Given the description of an element on the screen output the (x, y) to click on. 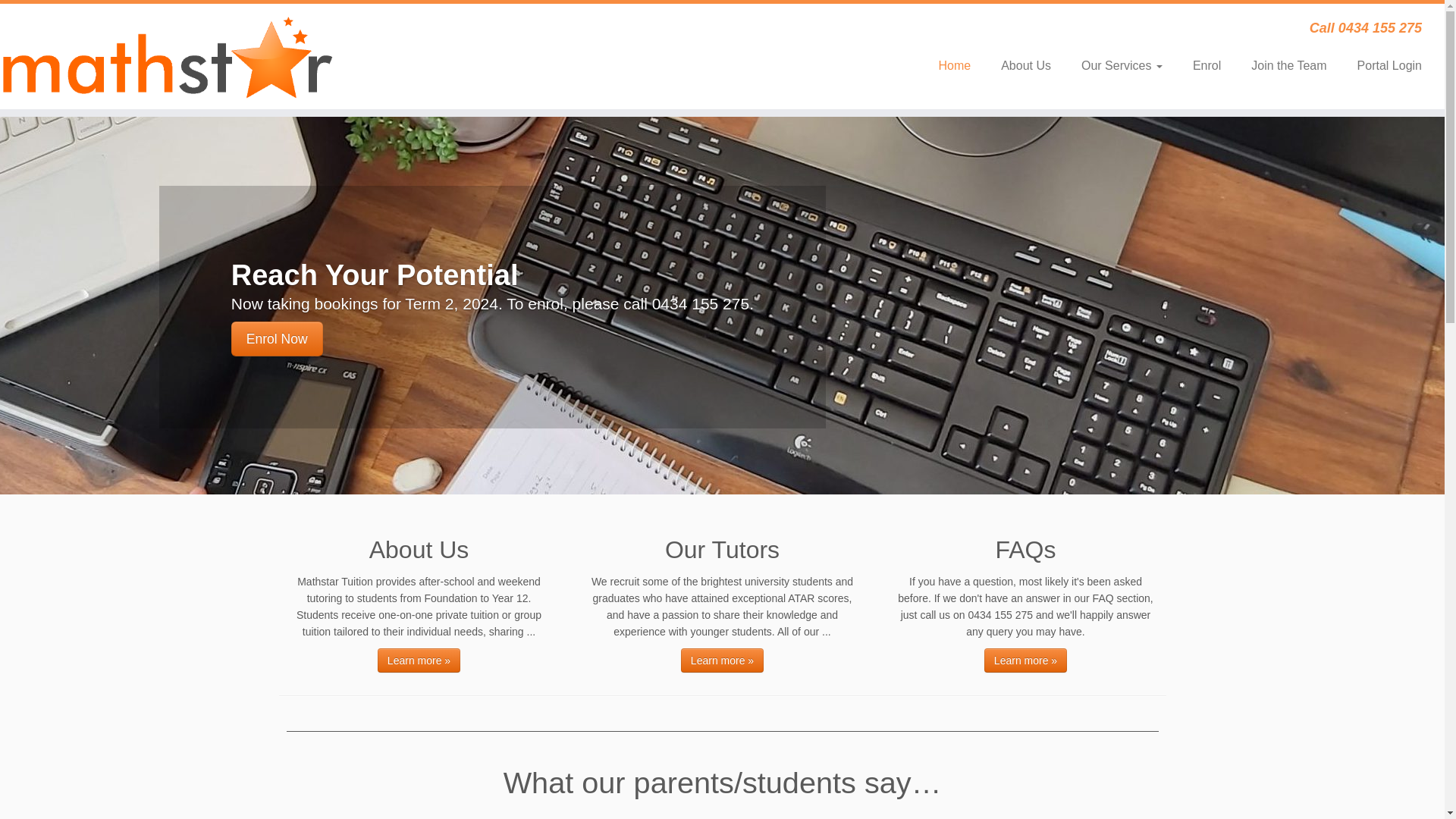
Join the Team Element type: text (1288, 65)
Our Services Element type: text (1121, 65)
Enrol Element type: text (1206, 65)
Mathstar Tuition | Call 0434 155 275 Element type: hover (166, 56)
About Us Element type: text (1025, 65)
Portal Login Element type: text (1381, 65)
Home Element type: text (953, 65)
Enrol Now Element type: text (277, 338)
